Given the description of an element on the screen output the (x, y) to click on. 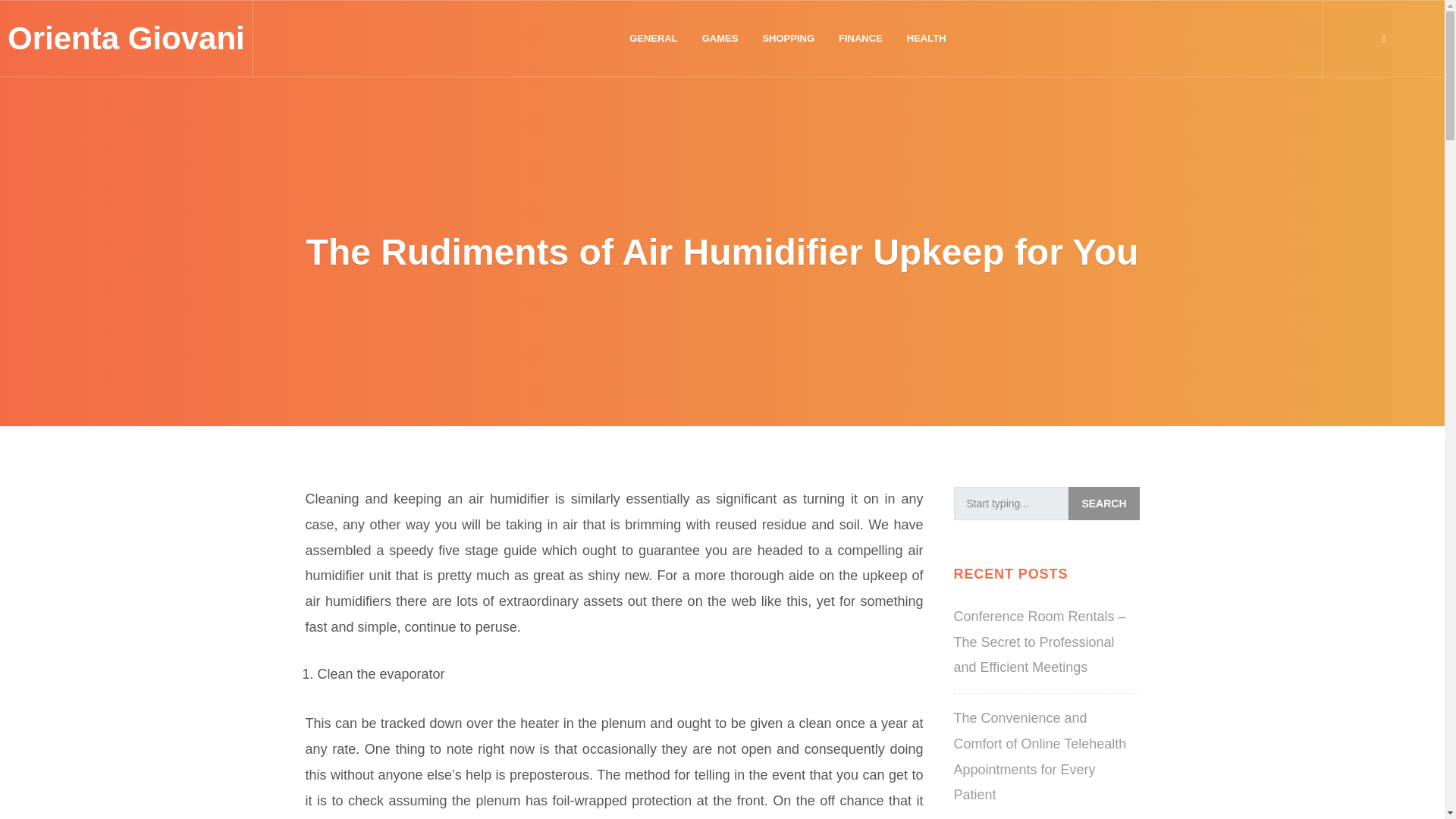
Orienta Giovani (125, 38)
HEALTH (926, 38)
FINANCE (861, 38)
Search (1103, 503)
GENERAL (653, 38)
SHOPPING (788, 38)
Orienta Giovani (125, 38)
GAMES (720, 38)
Search (1103, 503)
